Given the description of an element on the screen output the (x, y) to click on. 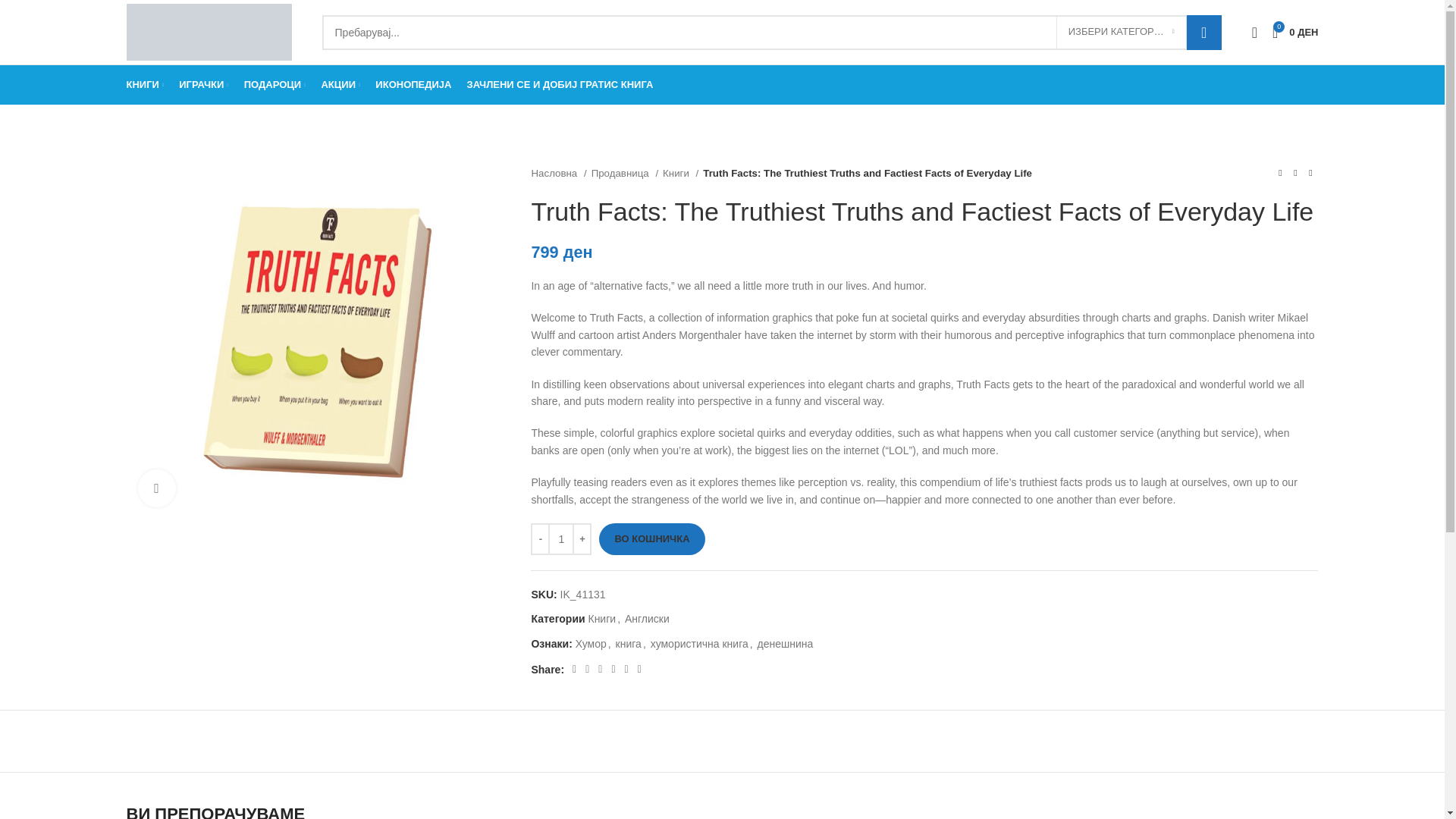
truth (317, 341)
